Given the description of an element on the screen output the (x, y) to click on. 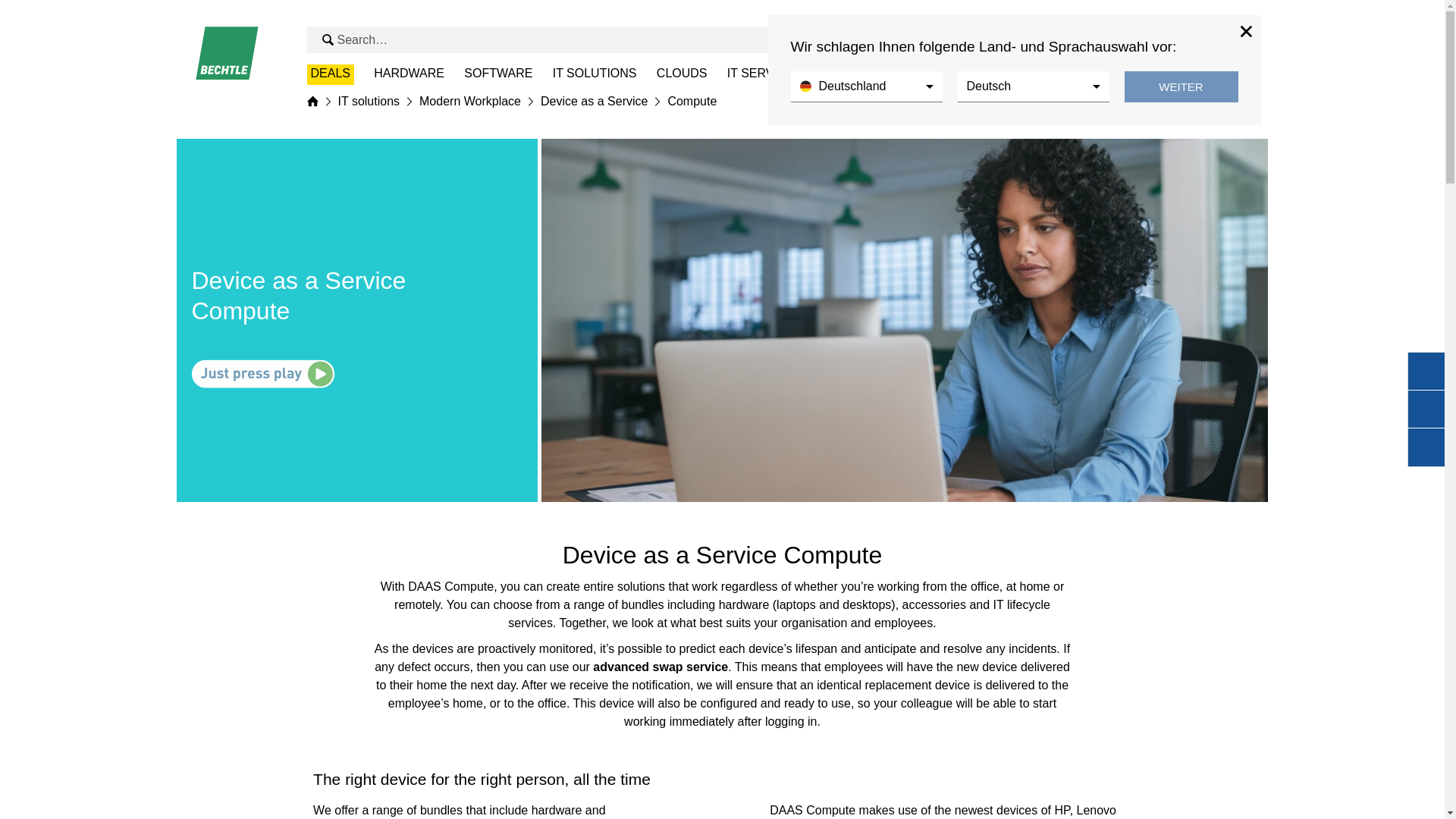
Compare products (1180, 40)
WEITER (1180, 86)
My Bechtle (1209, 39)
DEALS (329, 74)
Deutschland (866, 86)
Deutsch (1032, 86)
Shopping basket (1237, 40)
